Given the description of an element on the screen output the (x, y) to click on. 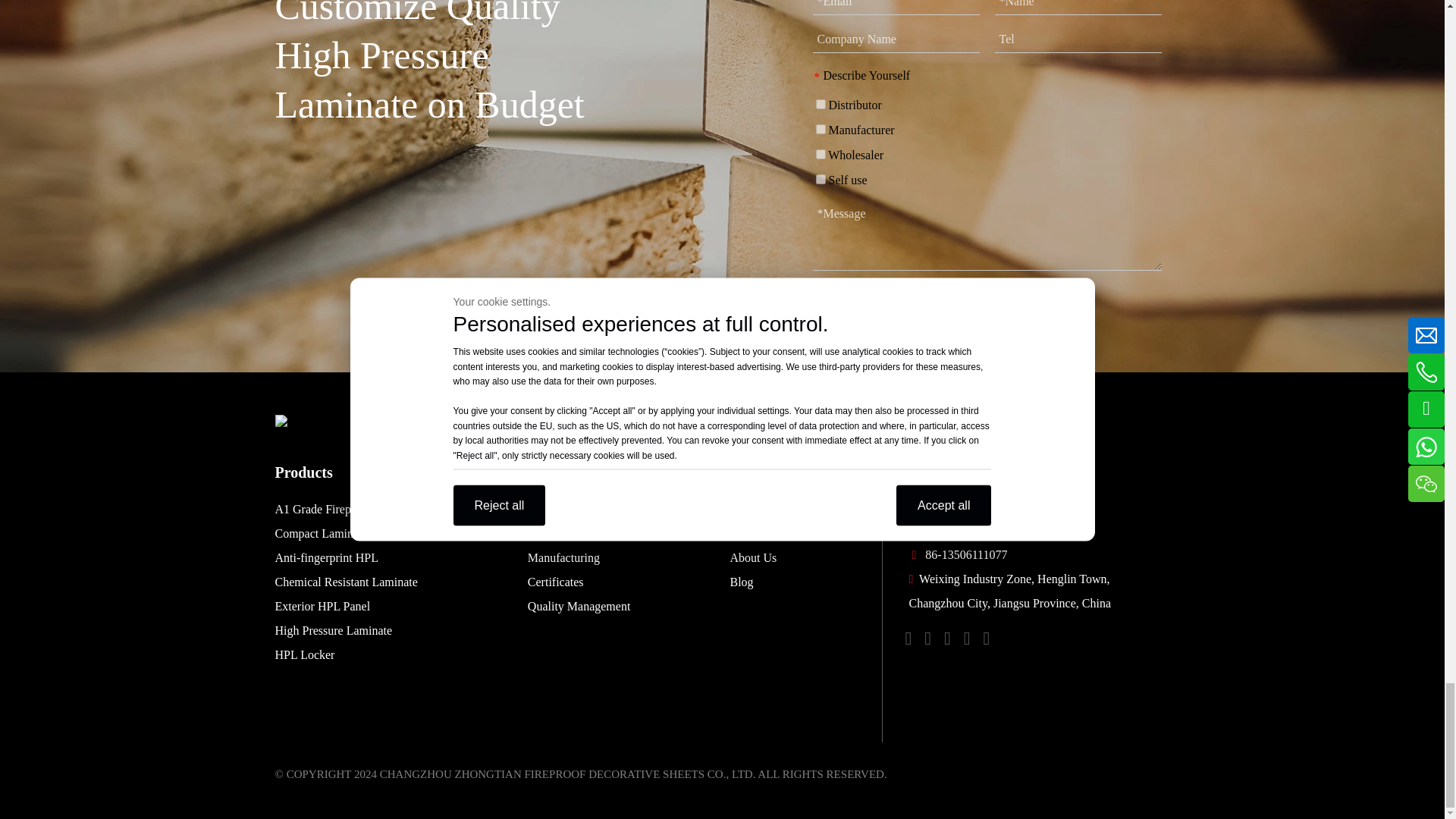
Self use (820, 179)
Wholesaler (820, 153)
Distributor (820, 103)
Manufacturer (820, 129)
